Given the description of an element on the screen output the (x, y) to click on. 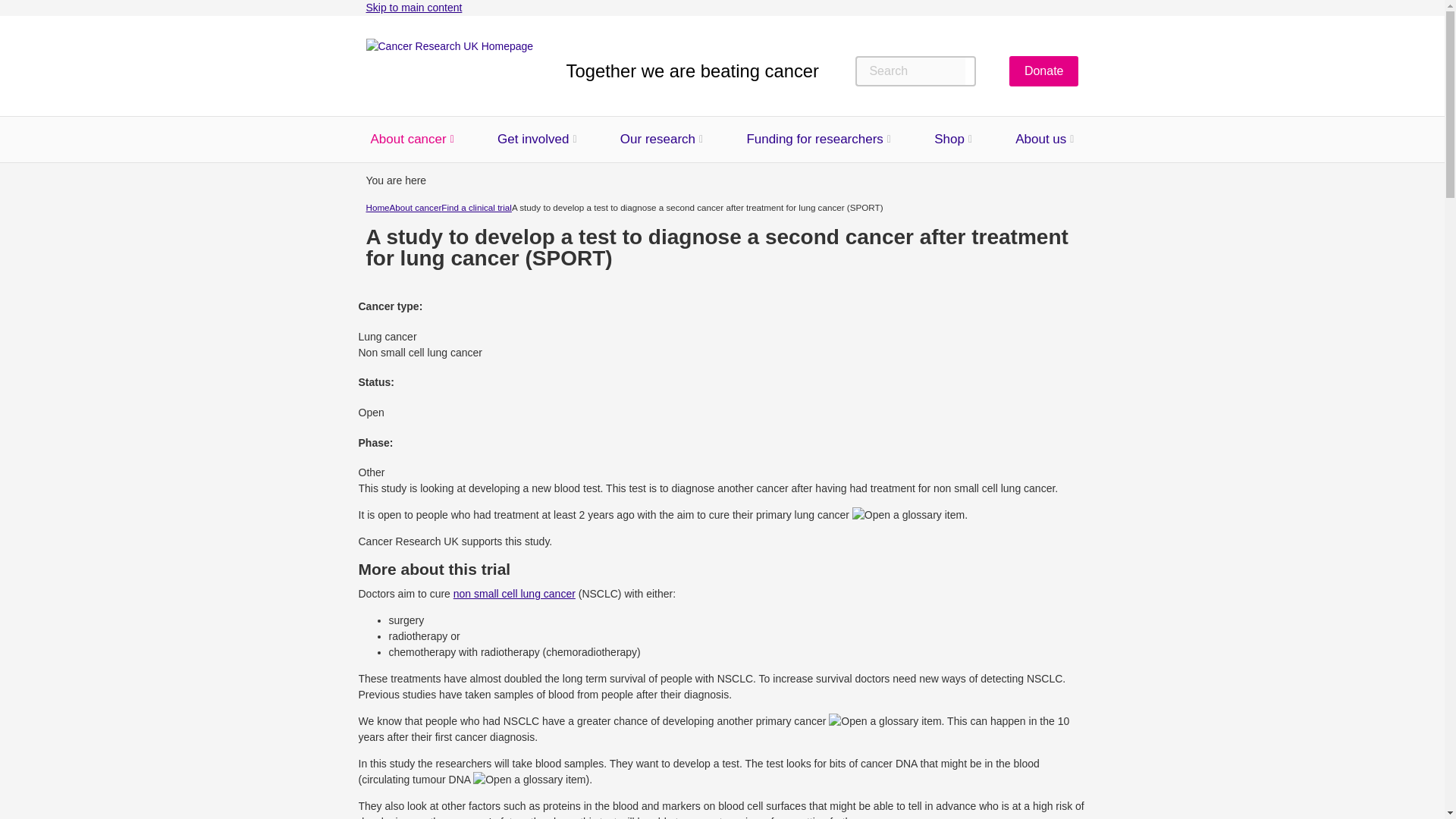
Donate (1043, 71)
About cancer (407, 139)
Skip to main content (413, 7)
Get involved (533, 139)
Cancer Research UK Homepage (448, 70)
